Given the description of an element on the screen output the (x, y) to click on. 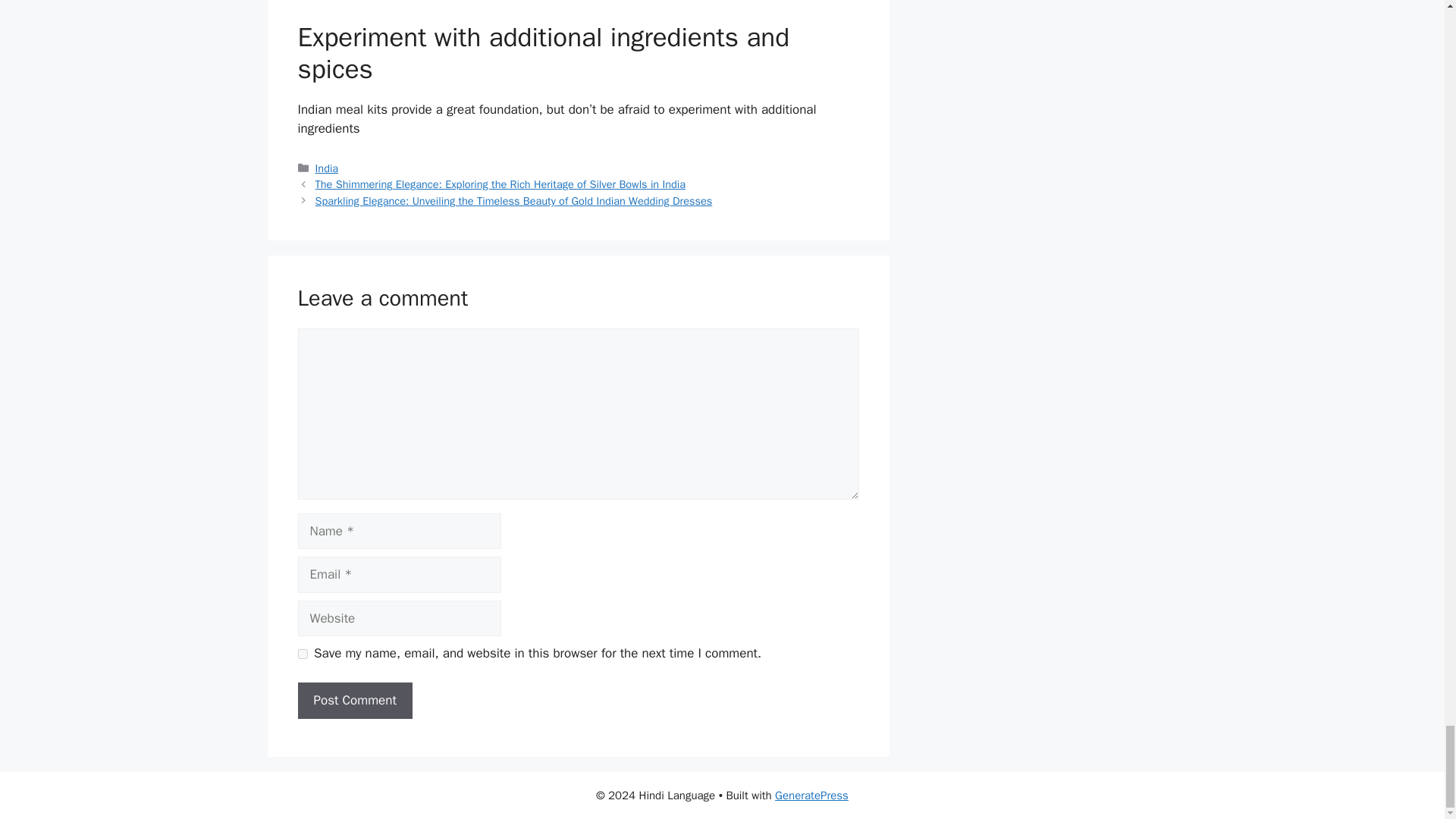
Post Comment (354, 700)
yes (302, 654)
India (327, 168)
Post Comment (354, 700)
